Given the description of an element on the screen output the (x, y) to click on. 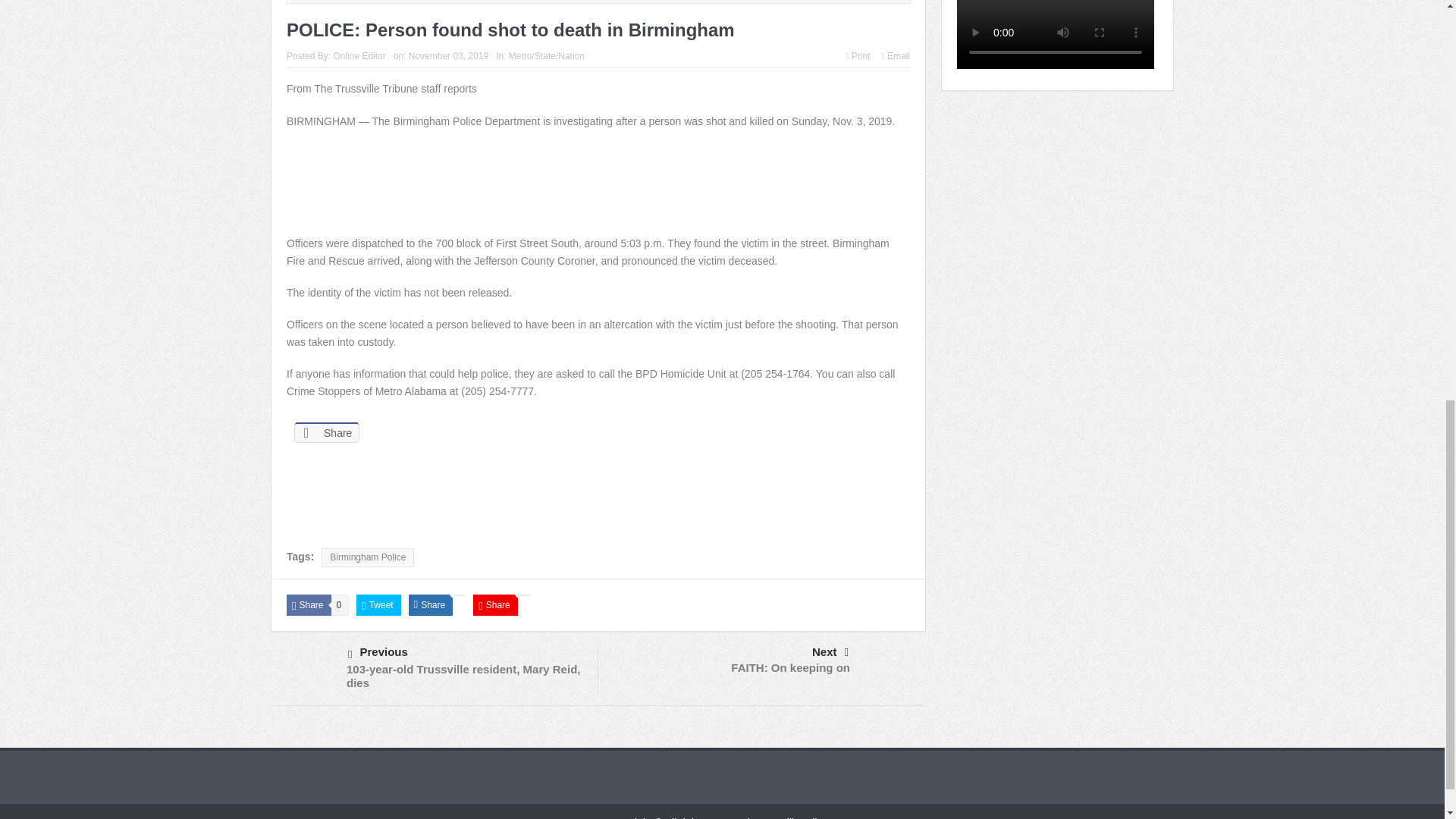
Share on Facebook (326, 432)
